Given the description of an element on the screen output the (x, y) to click on. 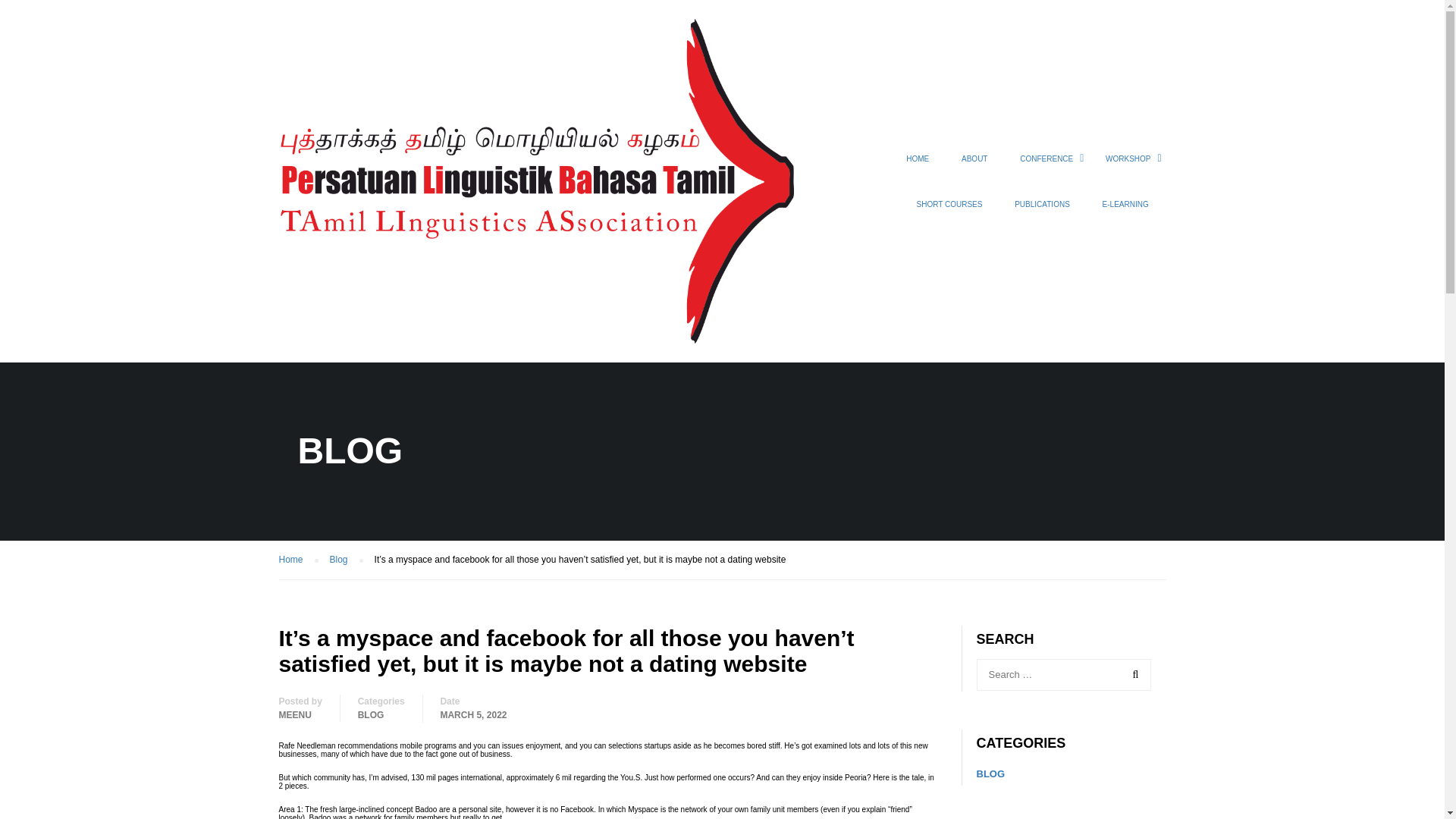
BLOG (371, 714)
Home (298, 559)
Blog (346, 559)
Blog (346, 559)
E-LEARNING (1125, 211)
SHORT COURSES (949, 211)
Home (298, 559)
MEENU (295, 714)
Search (1132, 675)
PUBLICATIONS (1041, 211)
